Given the description of an element on the screen output the (x, y) to click on. 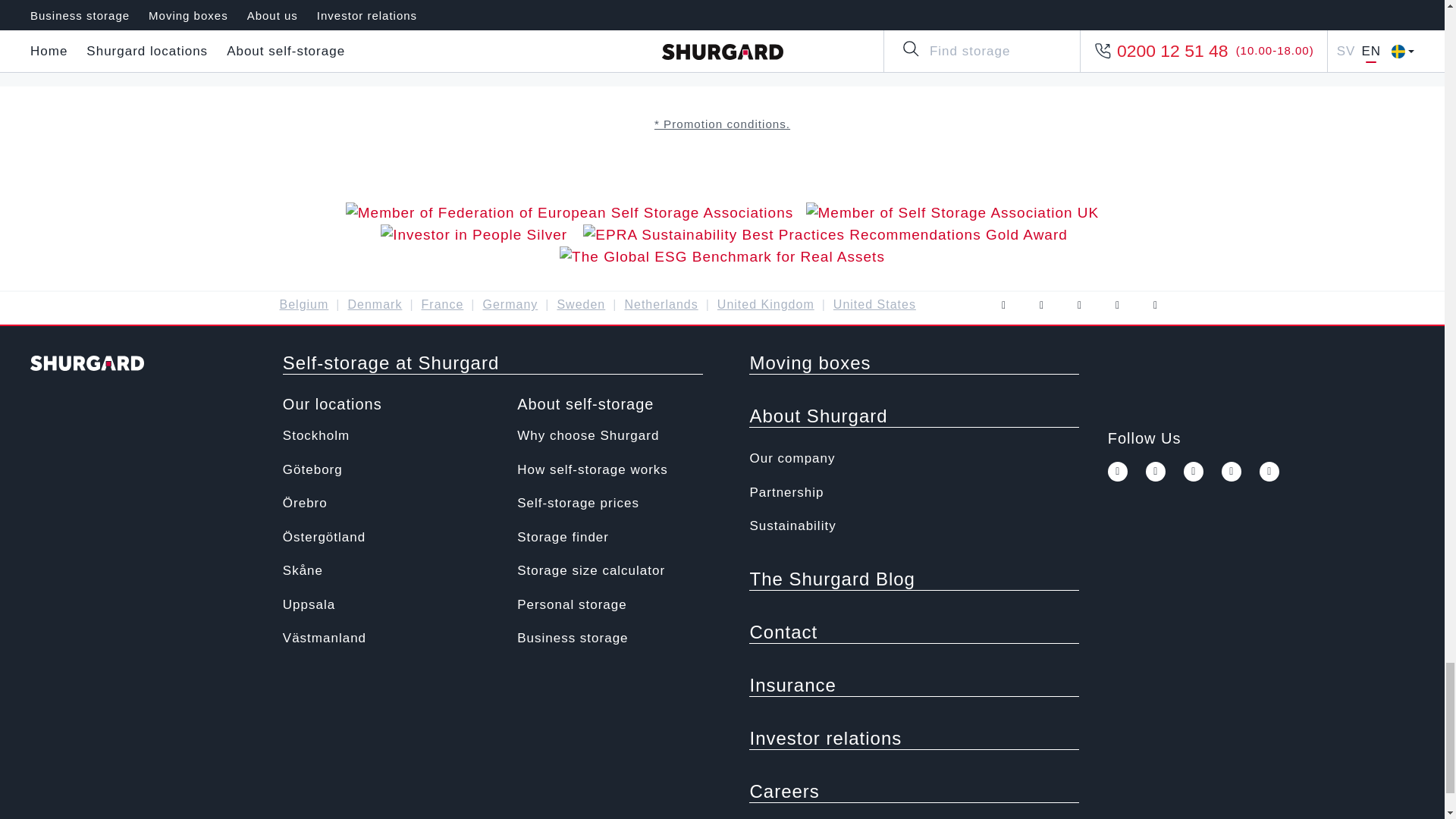
linkedin (1269, 471)
twitter (1040, 305)
youtube (1078, 305)
facebook (1117, 471)
linkedin (1154, 305)
twitter (1155, 471)
pinterest (1116, 305)
facebook (1002, 305)
pinterest (1231, 471)
youtube (1193, 471)
